Given the description of an element on the screen output the (x, y) to click on. 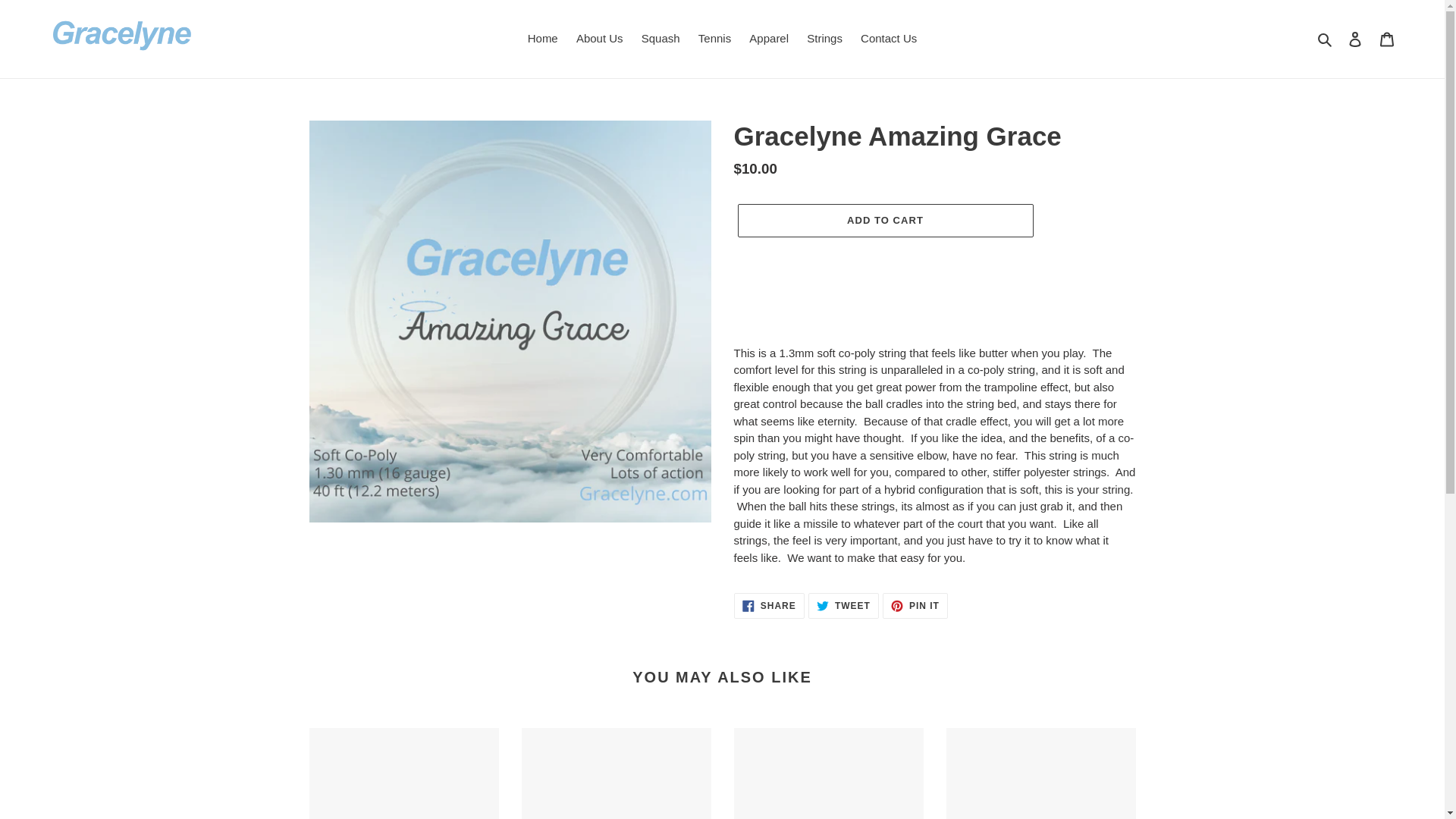
Contact Us (888, 38)
Squash (660, 38)
Gracelyne Incognito (1040, 773)
Gracelyne Overgrip (403, 773)
Gracelyne Pro 304 (769, 605)
ADD TO CART (843, 605)
Search (828, 773)
Log in (884, 220)
